Given the description of an element on the screen output the (x, y) to click on. 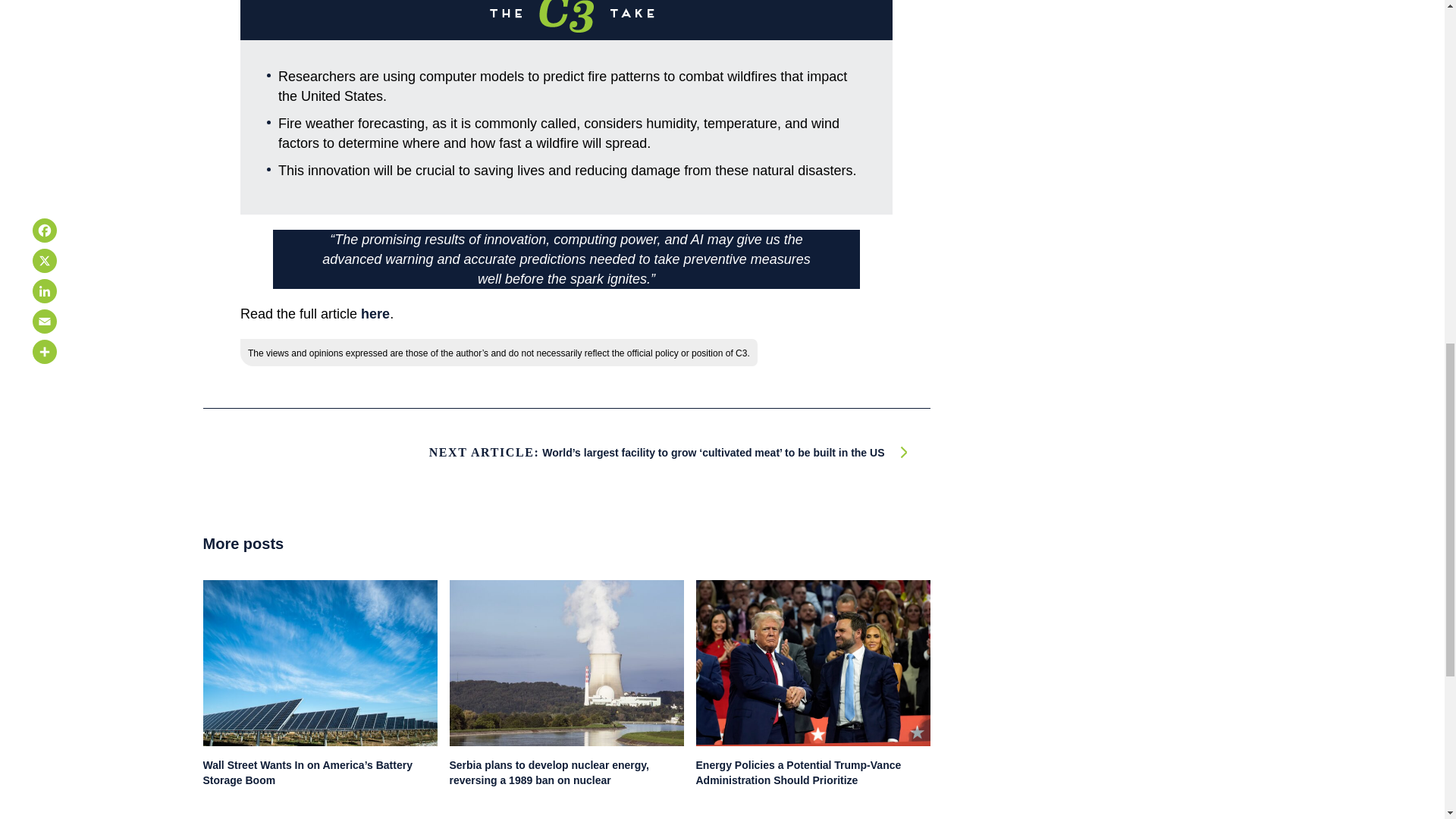
here (375, 313)
